Given the description of an element on the screen output the (x, y) to click on. 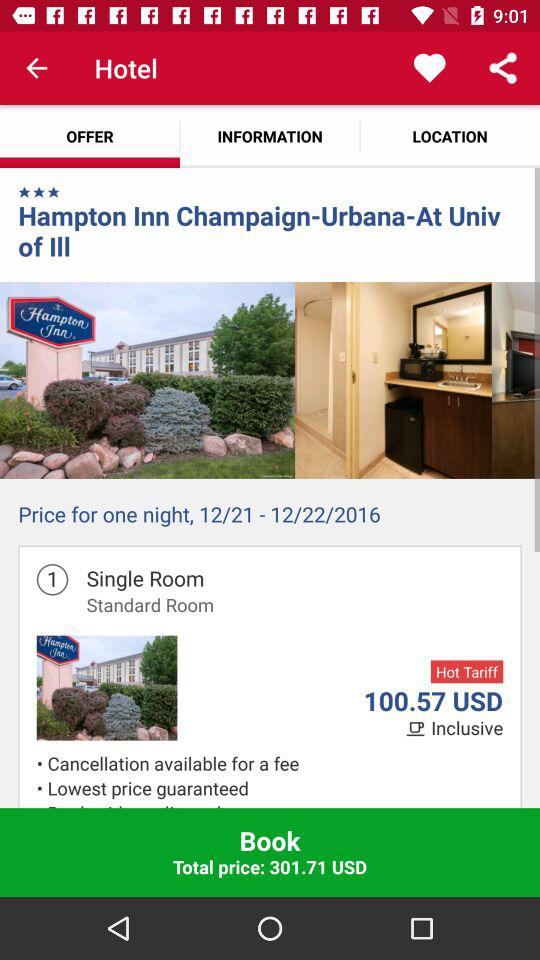
launch the item to the left of hotel app (36, 68)
